Given the description of an element on the screen output the (x, y) to click on. 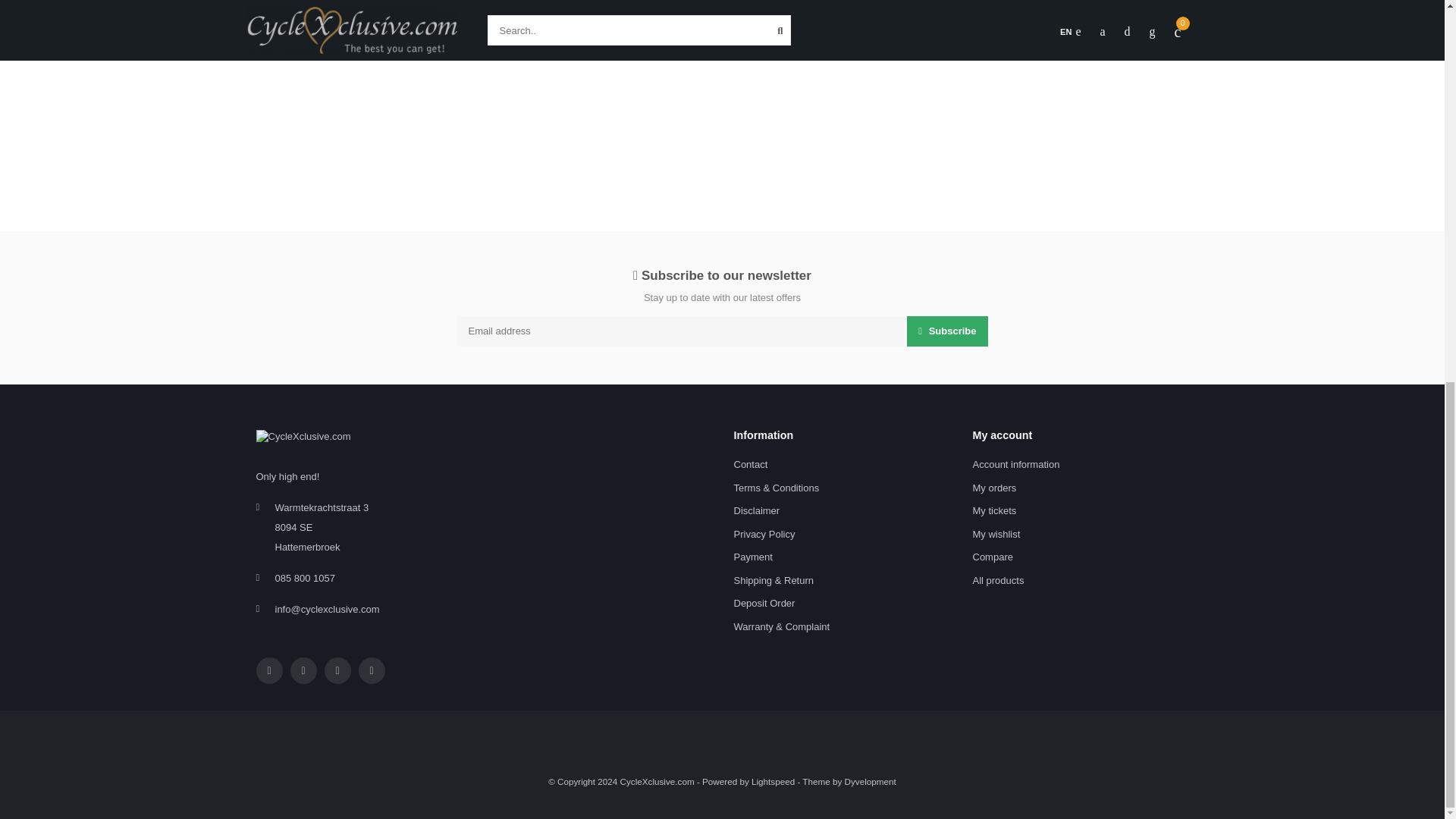
Payment (753, 557)
Privacy Policy (763, 535)
Contact (750, 464)
Compare (991, 557)
My tickets (994, 511)
My orders (994, 488)
Deposit Order (763, 603)
My wishlist (996, 535)
Account information (1015, 464)
Disclaimer (756, 511)
